Given the description of an element on the screen output the (x, y) to click on. 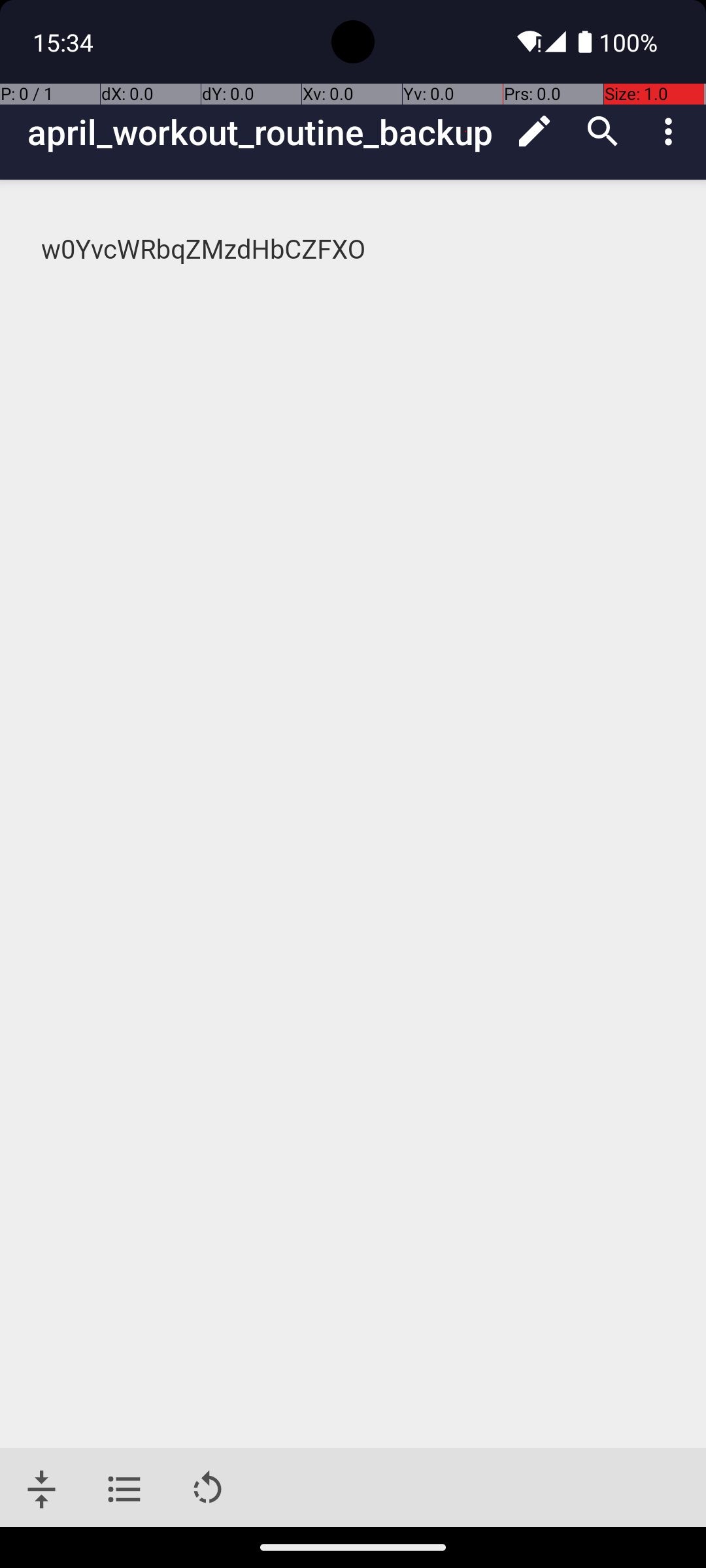
april_workout_routine_backup Element type: android.widget.TextView (263, 131)
w0YvcWRbqZMzdHbCZFXO Element type: android.widget.TextView (354, 249)
